Given the description of an element on the screen output the (x, y) to click on. 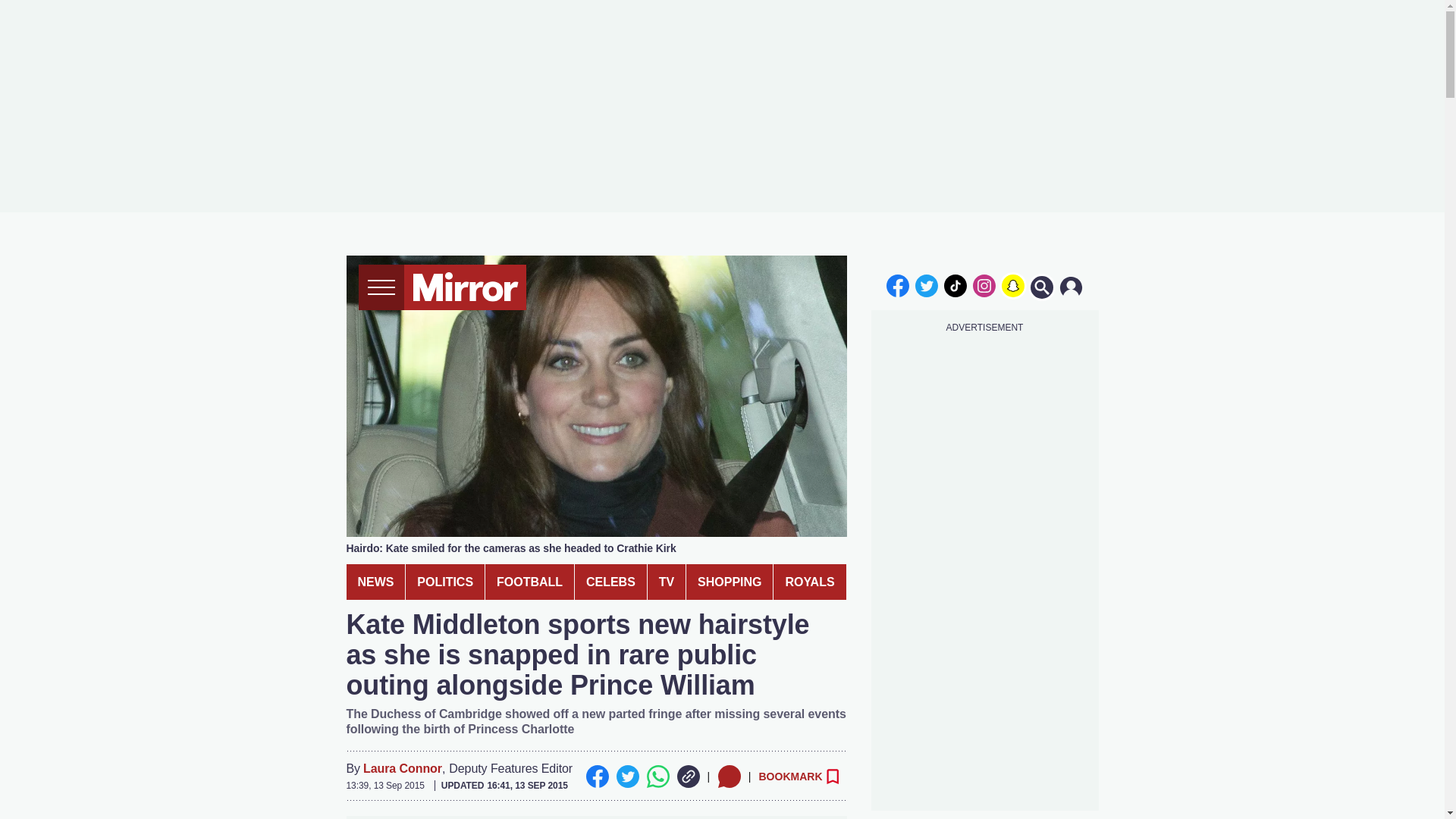
snapchat (1012, 285)
facebook (897, 285)
POLITICS (445, 581)
CELEBS (610, 581)
instagram (984, 285)
NEWS (375, 581)
FOOTBALL (528, 581)
Twitter (627, 775)
twitter (926, 285)
Facebook (596, 775)
tiktok (955, 285)
